Given the description of an element on the screen output the (x, y) to click on. 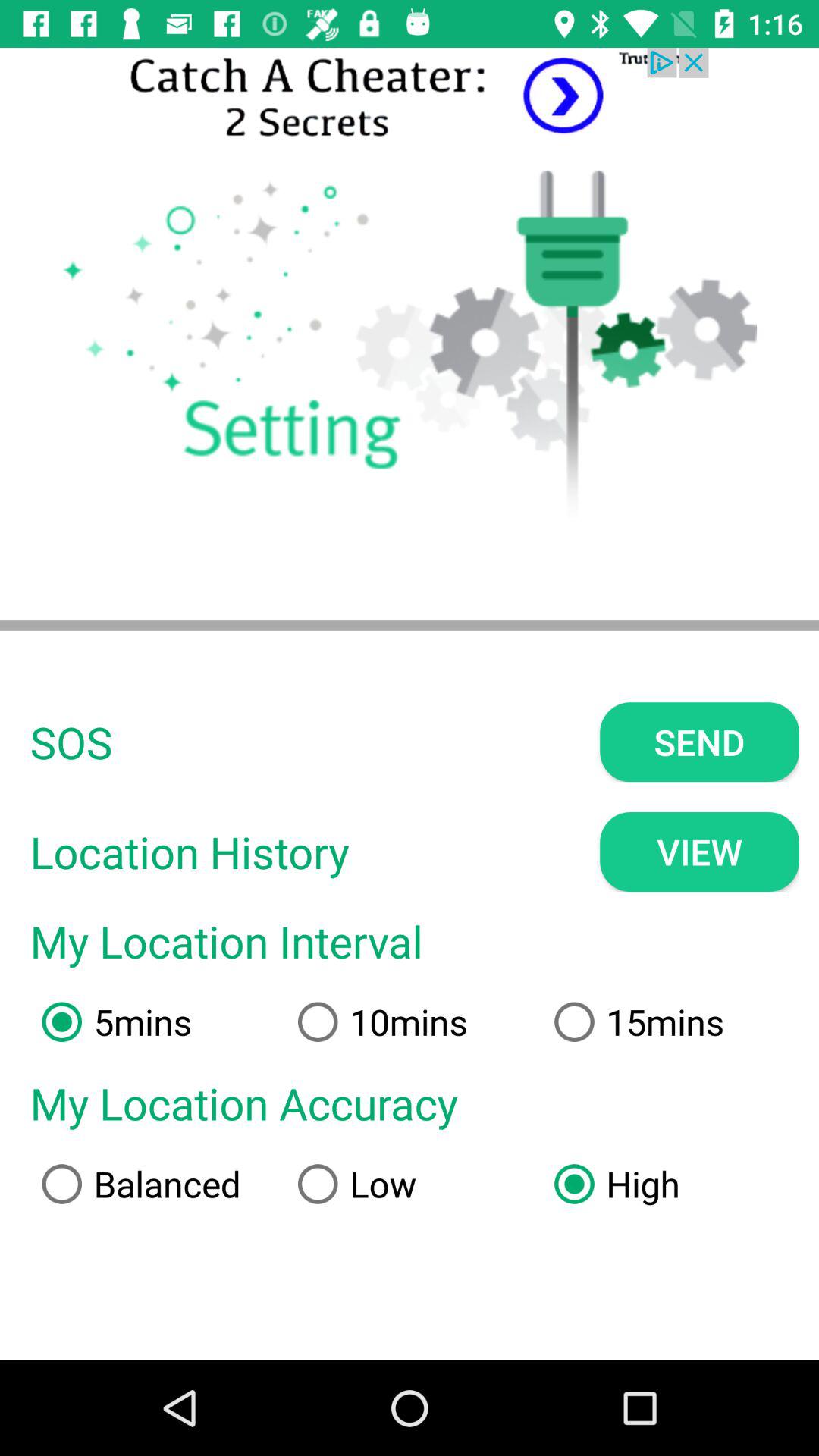
go to advertisement (409, 97)
